Given the description of an element on the screen output the (x, y) to click on. 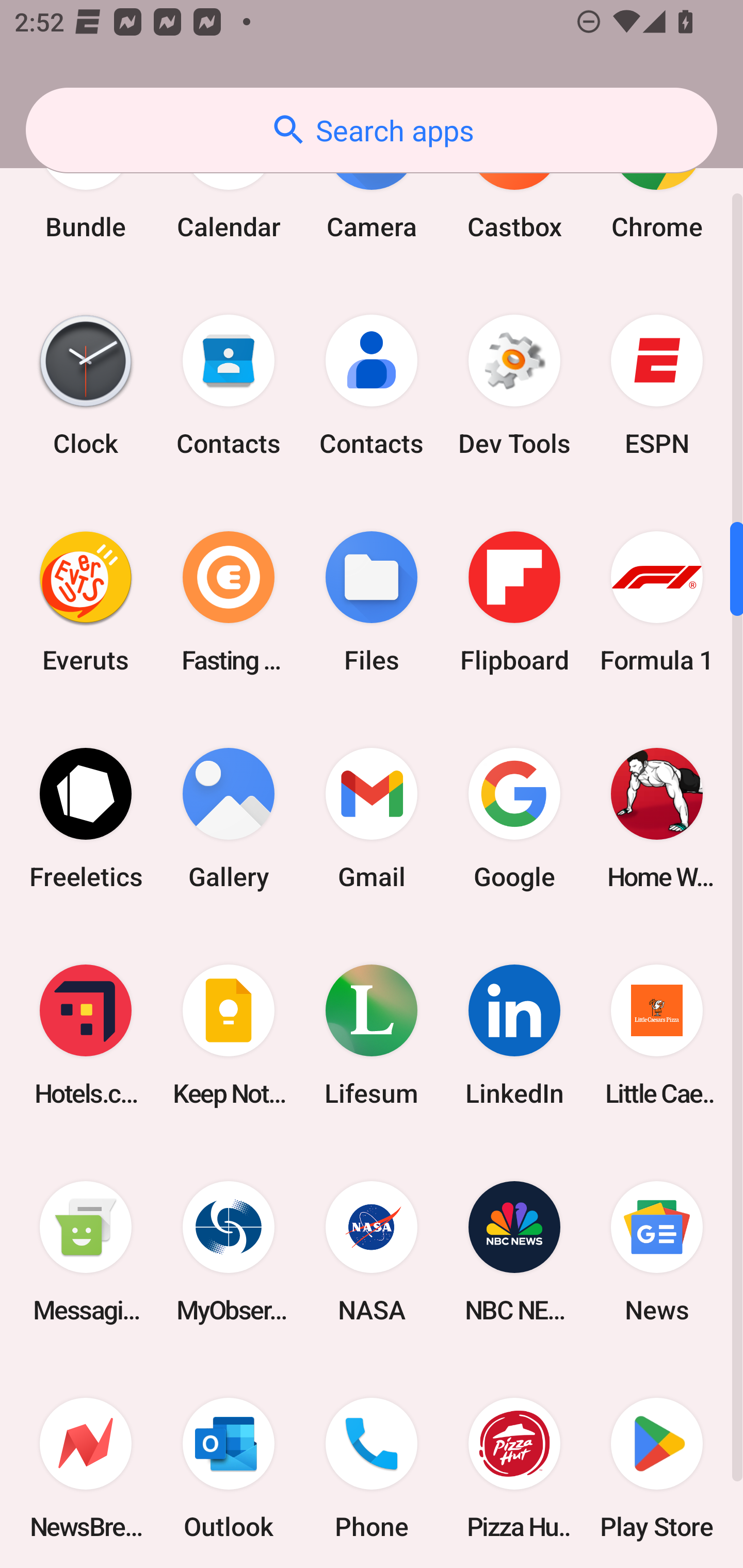
  Search apps (371, 130)
Clock (85, 385)
Contacts (228, 385)
Contacts (371, 385)
Dev Tools (514, 385)
ESPN (656, 385)
Everuts (85, 601)
Fasting Coach (228, 601)
Files (371, 601)
Flipboard (514, 601)
Formula 1 (656, 601)
Freeletics (85, 818)
Gallery (228, 818)
Gmail (371, 818)
Google (514, 818)
Home Workout (656, 818)
Hotels.com (85, 1034)
Keep Notes (228, 1034)
Lifesum (371, 1034)
LinkedIn (514, 1034)
Little Caesars Pizza (656, 1034)
Messaging (85, 1251)
MyObservatory (228, 1251)
NASA (371, 1251)
NBC NEWS (514, 1251)
News (656, 1251)
NewsBreak (85, 1463)
Outlook (228, 1463)
Phone (371, 1463)
Pizza Hut HK & Macau (514, 1463)
Play Store (656, 1463)
